Given the description of an element on the screen output the (x, y) to click on. 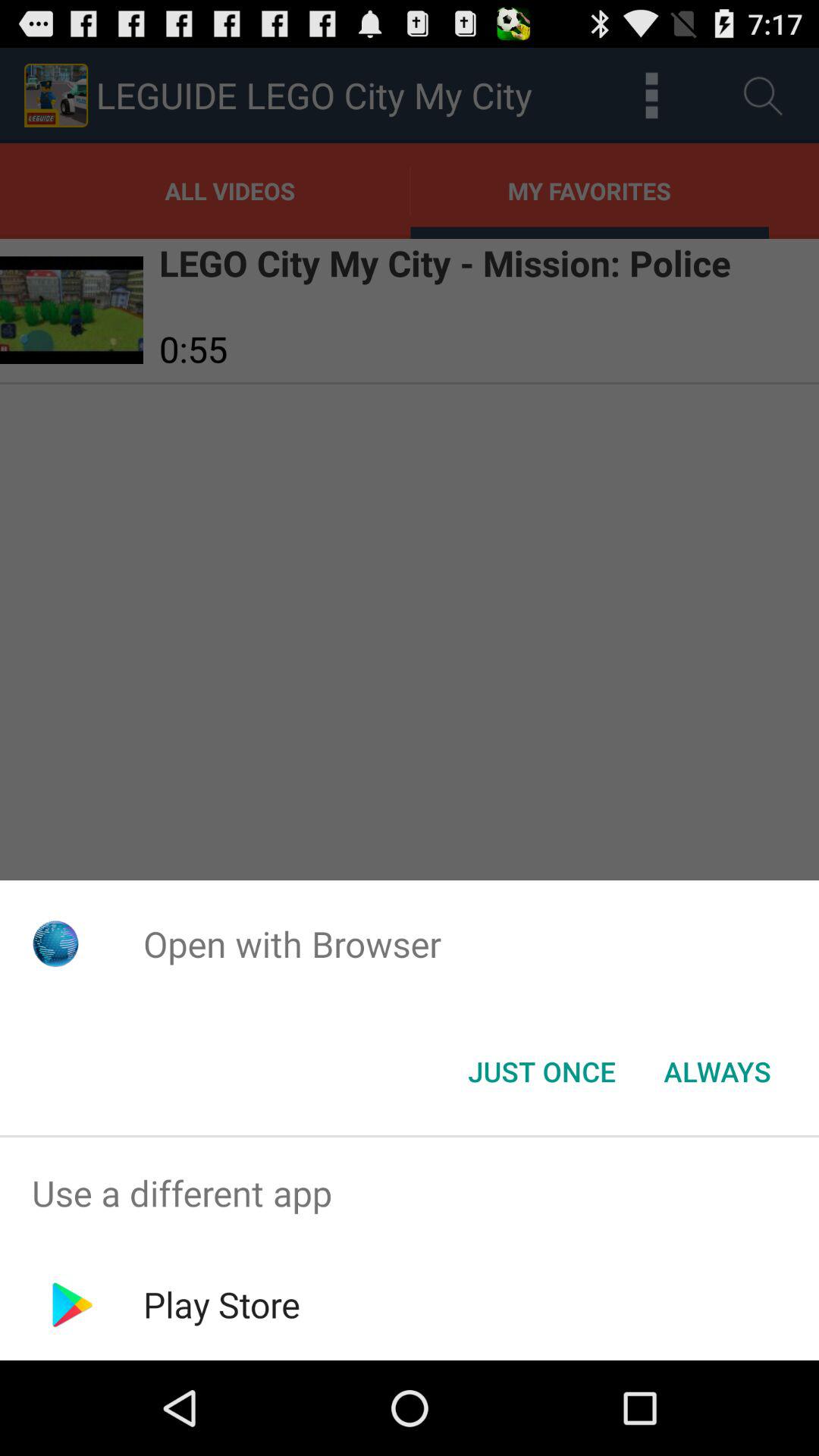
launch the item above play store icon (409, 1192)
